Given the description of an element on the screen output the (x, y) to click on. 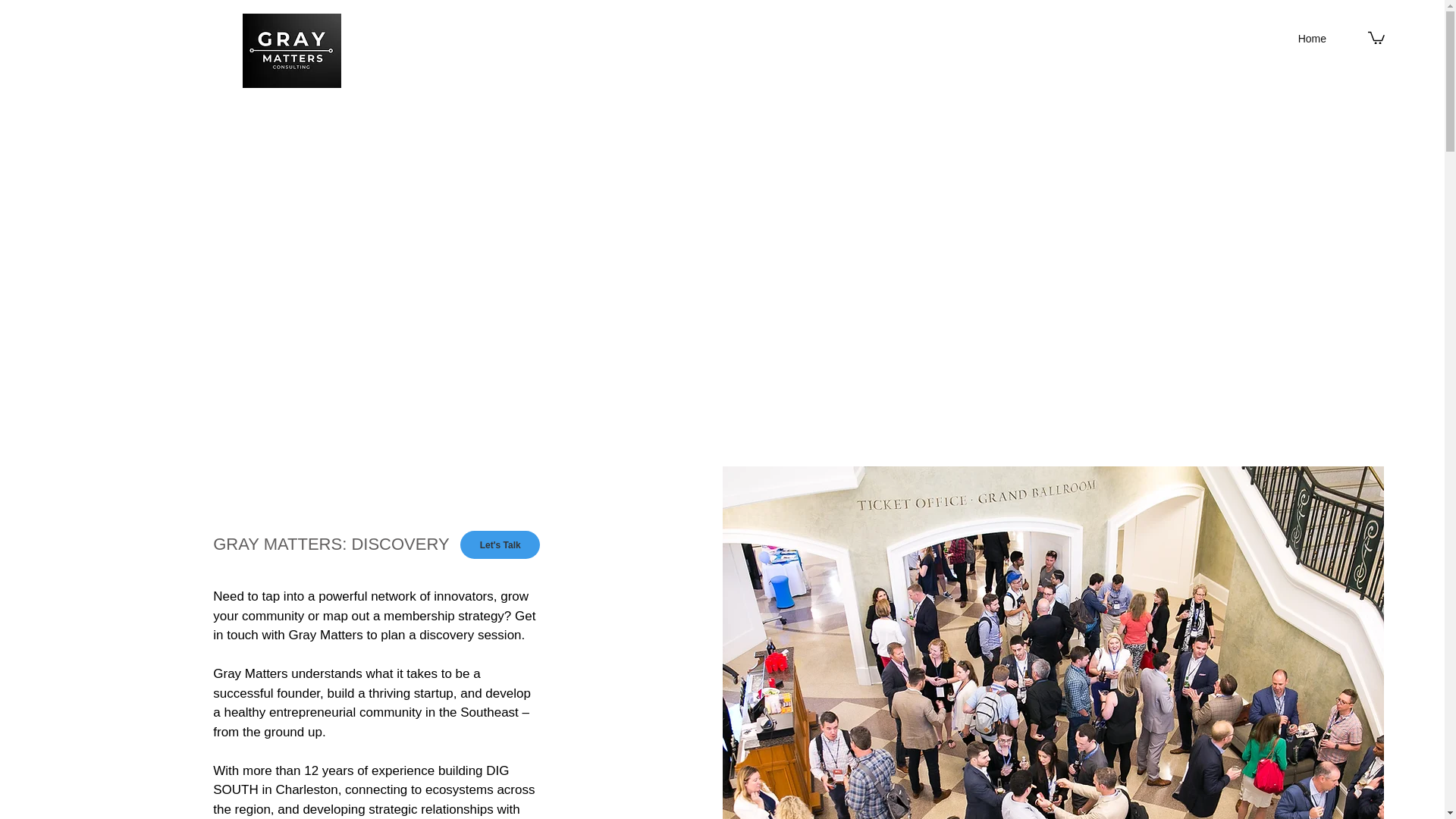
Home (1311, 38)
Let's Talk (500, 544)
